Given the description of an element on the screen output the (x, y) to click on. 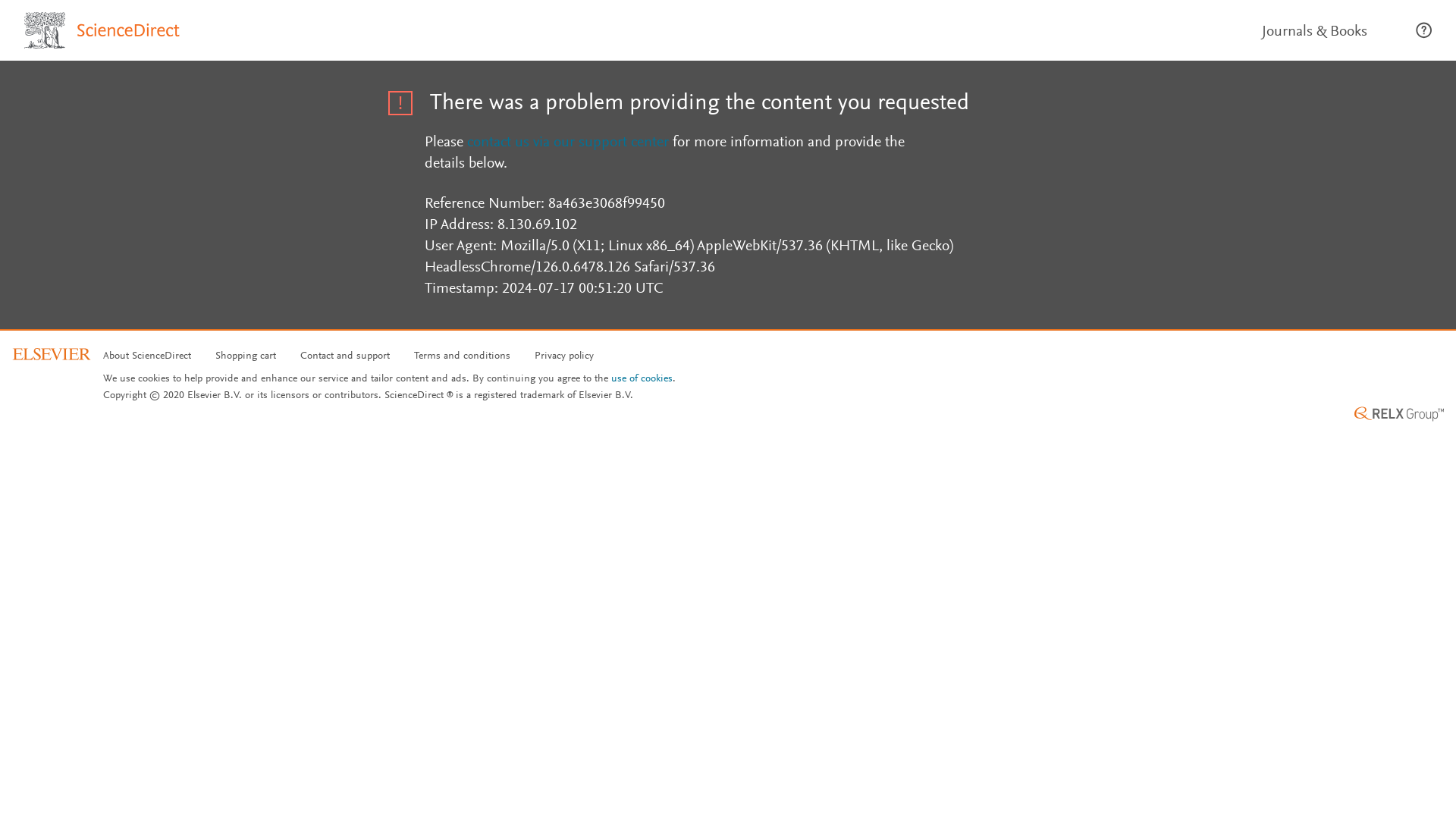
contact us via our support center (567, 143)
ScienceDirect help (1423, 30)
use of cookies (641, 379)
ScienceDirect help (1423, 29)
Contact and support (344, 356)
About ScienceDirect (146, 356)
Terms and conditions (462, 356)
Privacy policy (564, 356)
Shopping cart (245, 356)
